Given the description of an element on the screen output the (x, y) to click on. 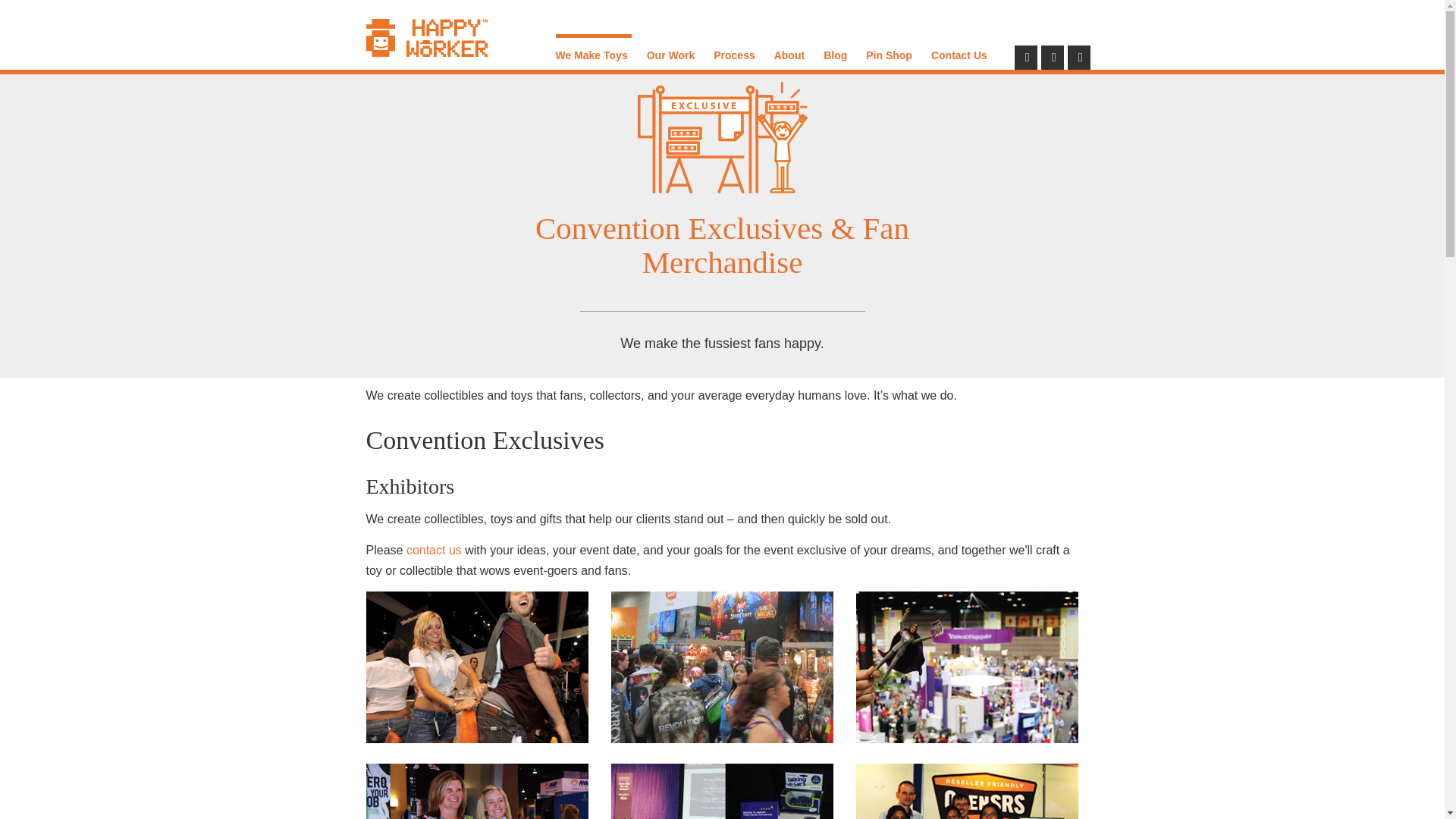
About (791, 50)
Home (425, 37)
Pin Shop (890, 50)
Process (735, 50)
Contact Us (961, 50)
Our Work (672, 50)
Happy Worker Shop (890, 50)
We Make Toys (592, 50)
